Given the description of an element on the screen output the (x, y) to click on. 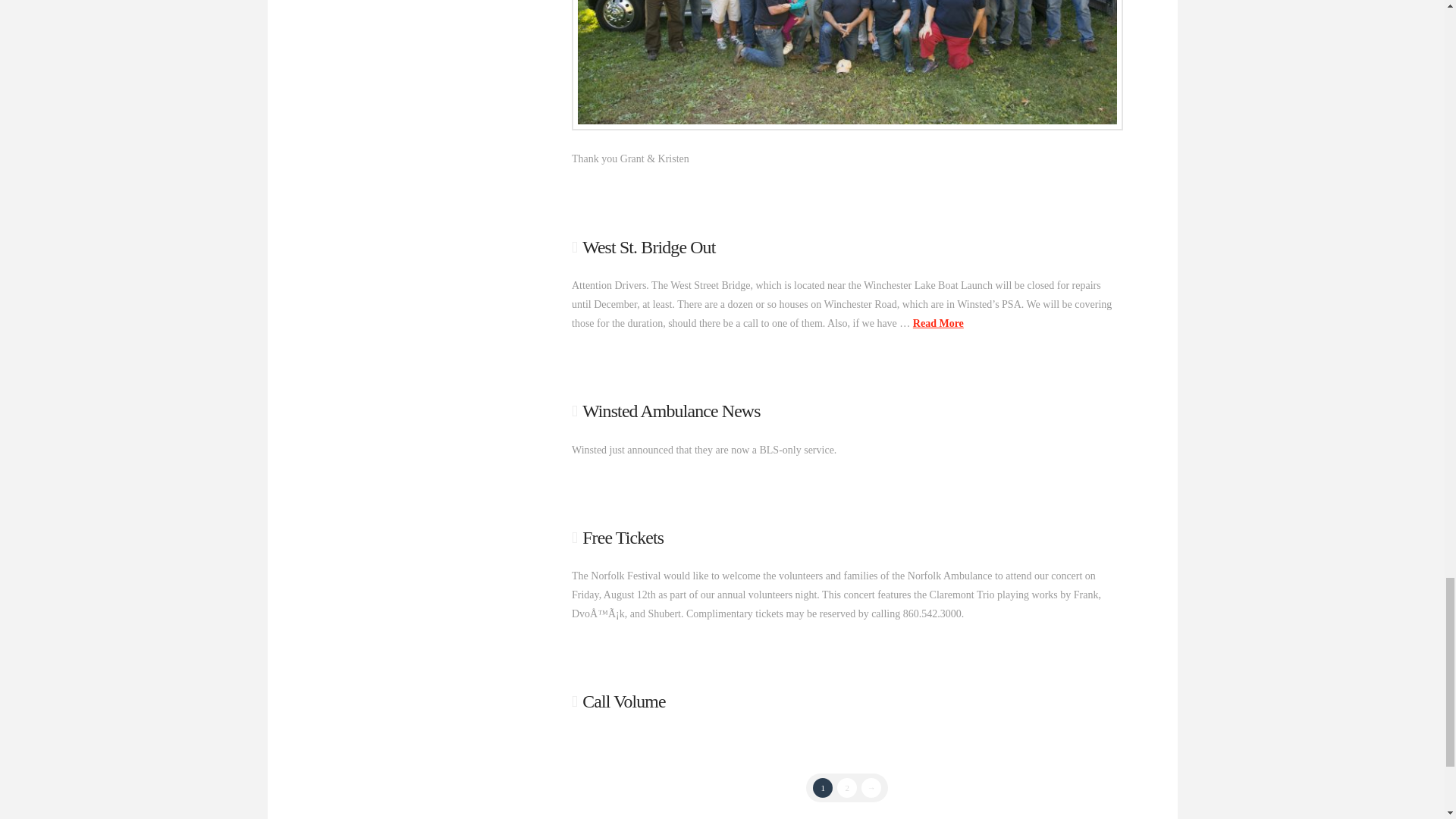
Permalink to: "West St. Bridge Out" (648, 247)
Permalink to: "2016 Group Photograph" (847, 62)
Read More (937, 323)
Winsted Ambulance News (671, 410)
West St. Bridge Out (648, 247)
